Given the description of an element on the screen output the (x, y) to click on. 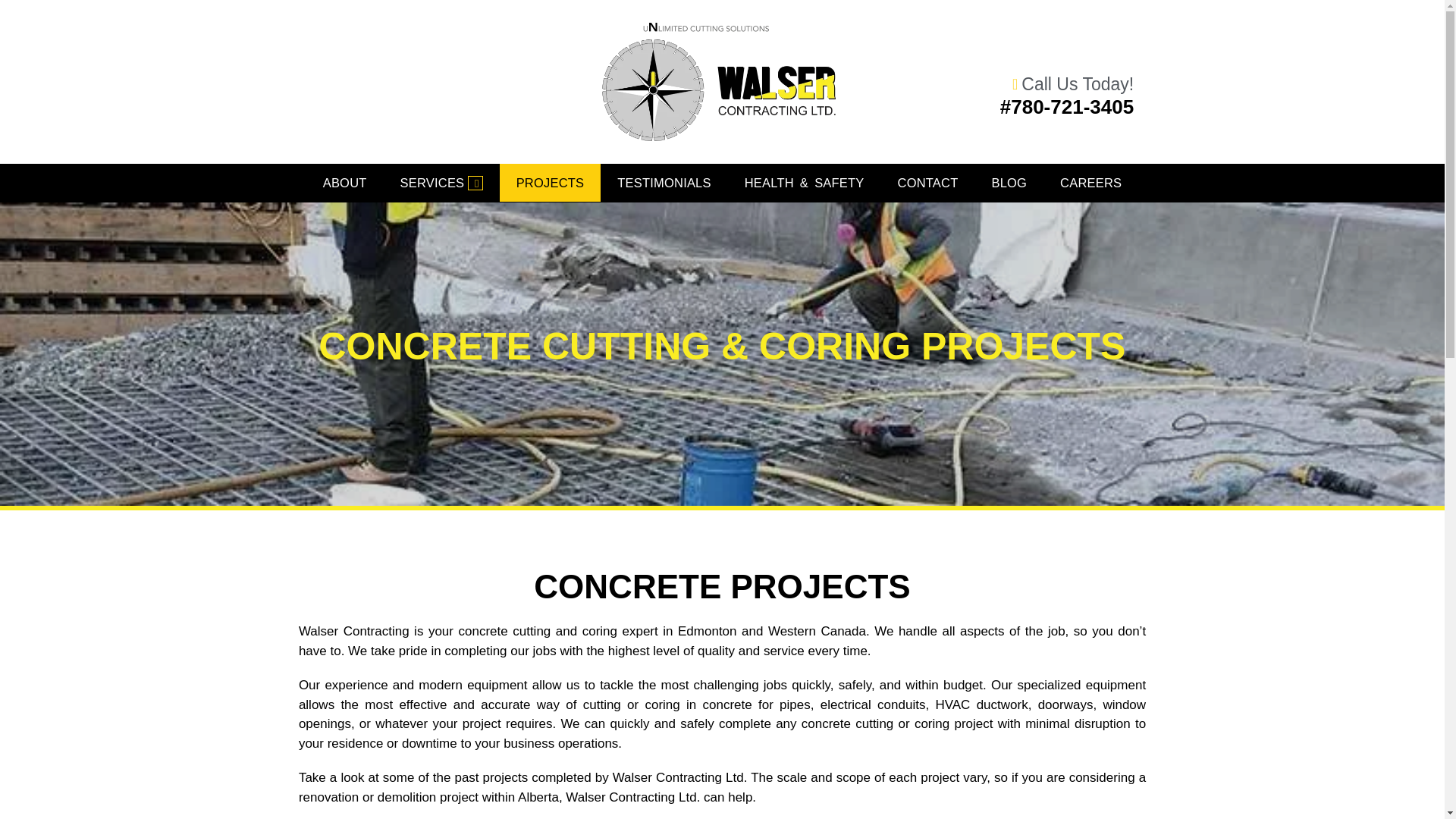
ABOUT (344, 182)
CAREERS (1090, 182)
SERVICES (441, 182)
TESTIMONIALS (662, 182)
CONTACT (927, 182)
PROJECTS (550, 182)
BLOG (1008, 182)
